Given the description of an element on the screen output the (x, y) to click on. 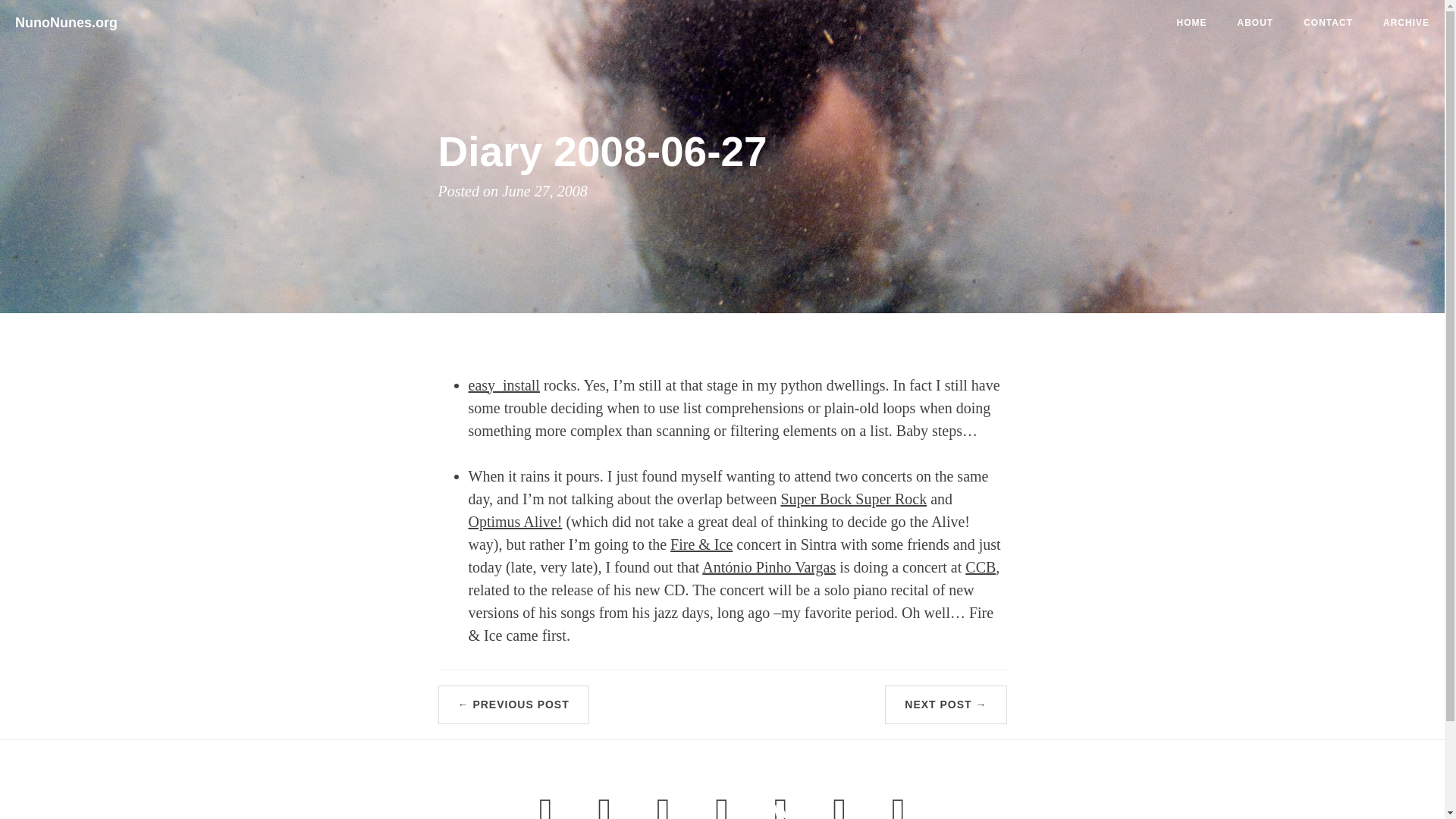
NunoNunes.org (66, 18)
HOME (1192, 22)
NunoNunes.org (71, 18)
Optimus Alive! (515, 520)
CONTACT (1328, 22)
CCB (980, 565)
Super Bock Super Rock (853, 497)
ABOUT (1255, 22)
